Given the description of an element on the screen output the (x, y) to click on. 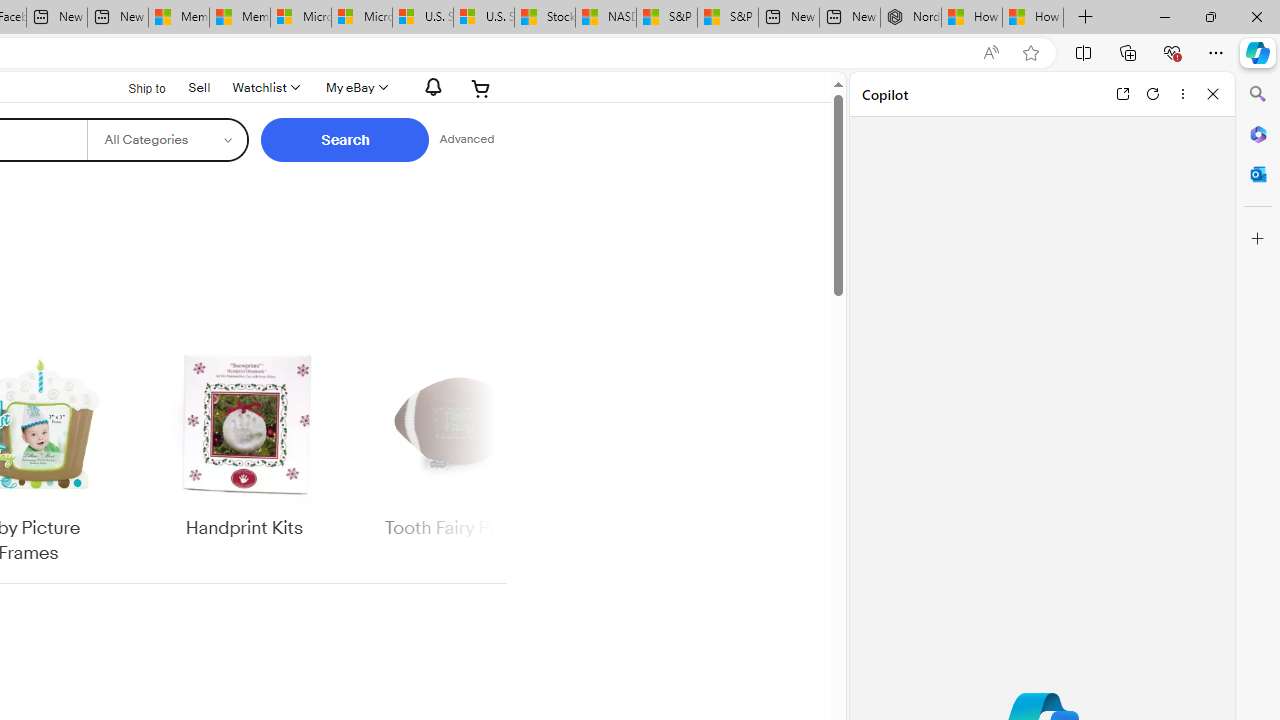
Advanced Search (466, 139)
My eBay (354, 88)
Your shopping cart (481, 88)
WatchlistExpand Watch List (264, 88)
Handprint Kits (244, 443)
Watchlist (264, 88)
